Given the description of an element on the screen output the (x, y) to click on. 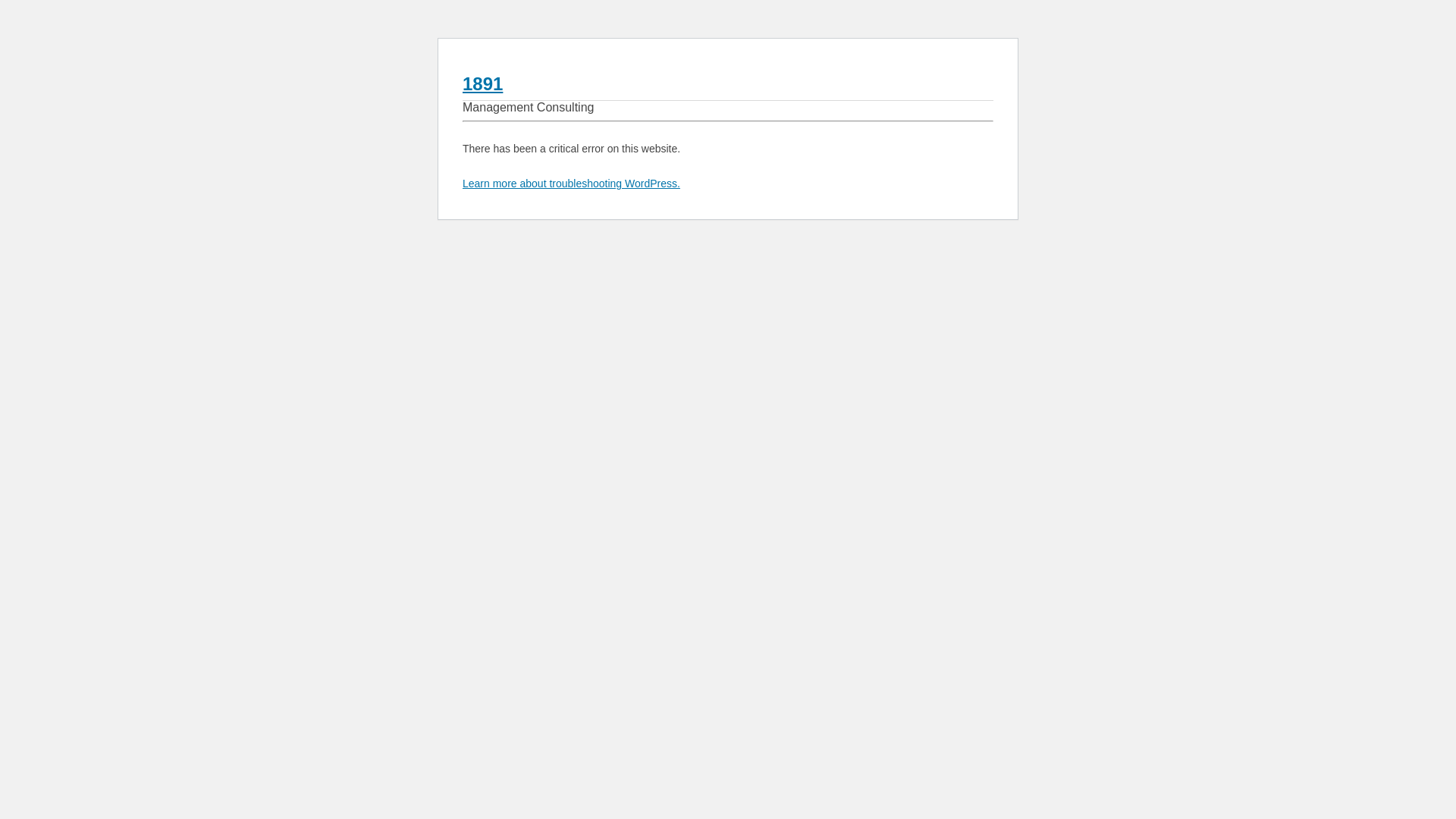
1891 Element type: text (482, 83)
Learn more about troubleshooting WordPress. Element type: text (571, 183)
